Given the description of an element on the screen output the (x, y) to click on. 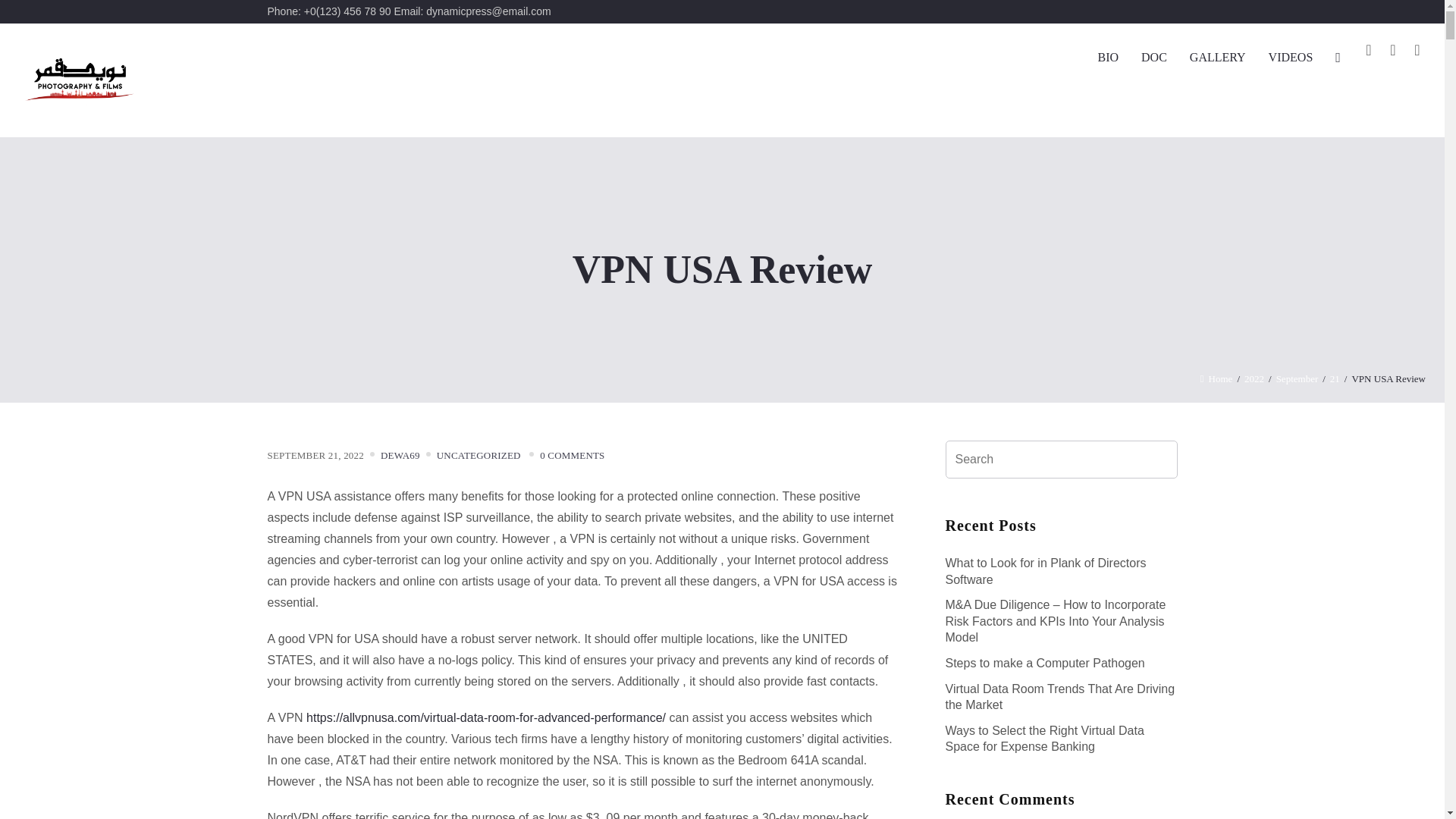
2022 (1253, 378)
UNCATEGORIZED (478, 455)
September (1297, 378)
Facebook (1368, 49)
Home (1216, 378)
DEWA69 (400, 455)
Twitter (1392, 49)
Posts by DEWA69 (400, 455)
0 COMMENTS (572, 455)
GALLERY (1217, 57)
Pinterest (1417, 49)
VIDEOS (1290, 57)
